Given the description of an element on the screen output the (x, y) to click on. 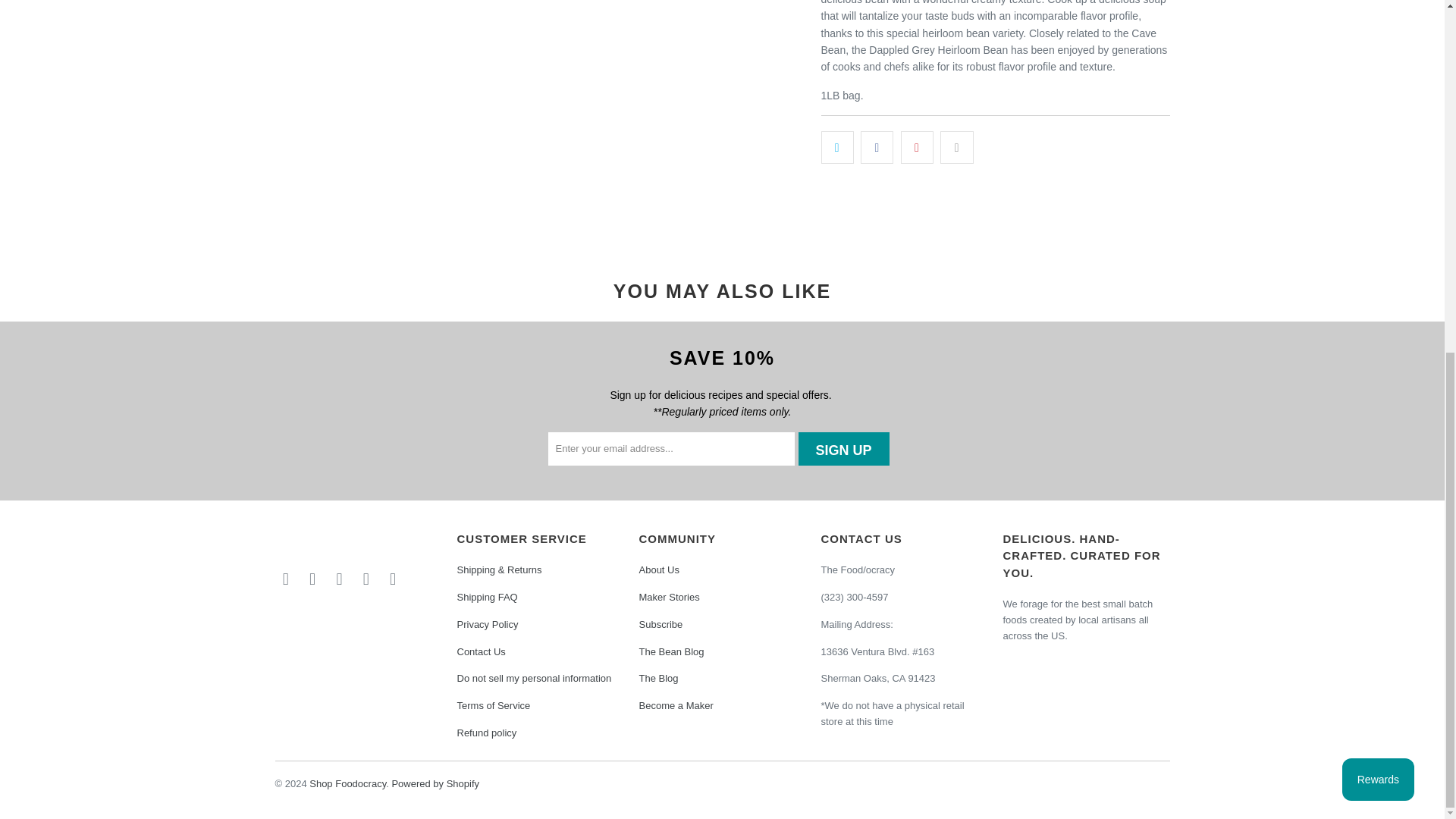
Sign Up (842, 449)
Shop Foodocracy on YouTube (392, 579)
Email this to a friend (956, 146)
Shop Foodocracy on Pinterest (366, 579)
Share this on Facebook (876, 146)
Share this on Twitter (837, 146)
Email Shop Foodocracy (286, 579)
Share this on Pinterest (917, 146)
Shop Foodocracy on Instagram (339, 579)
Shop Foodocracy on Facebook (312, 579)
